Given the description of an element on the screen output the (x, y) to click on. 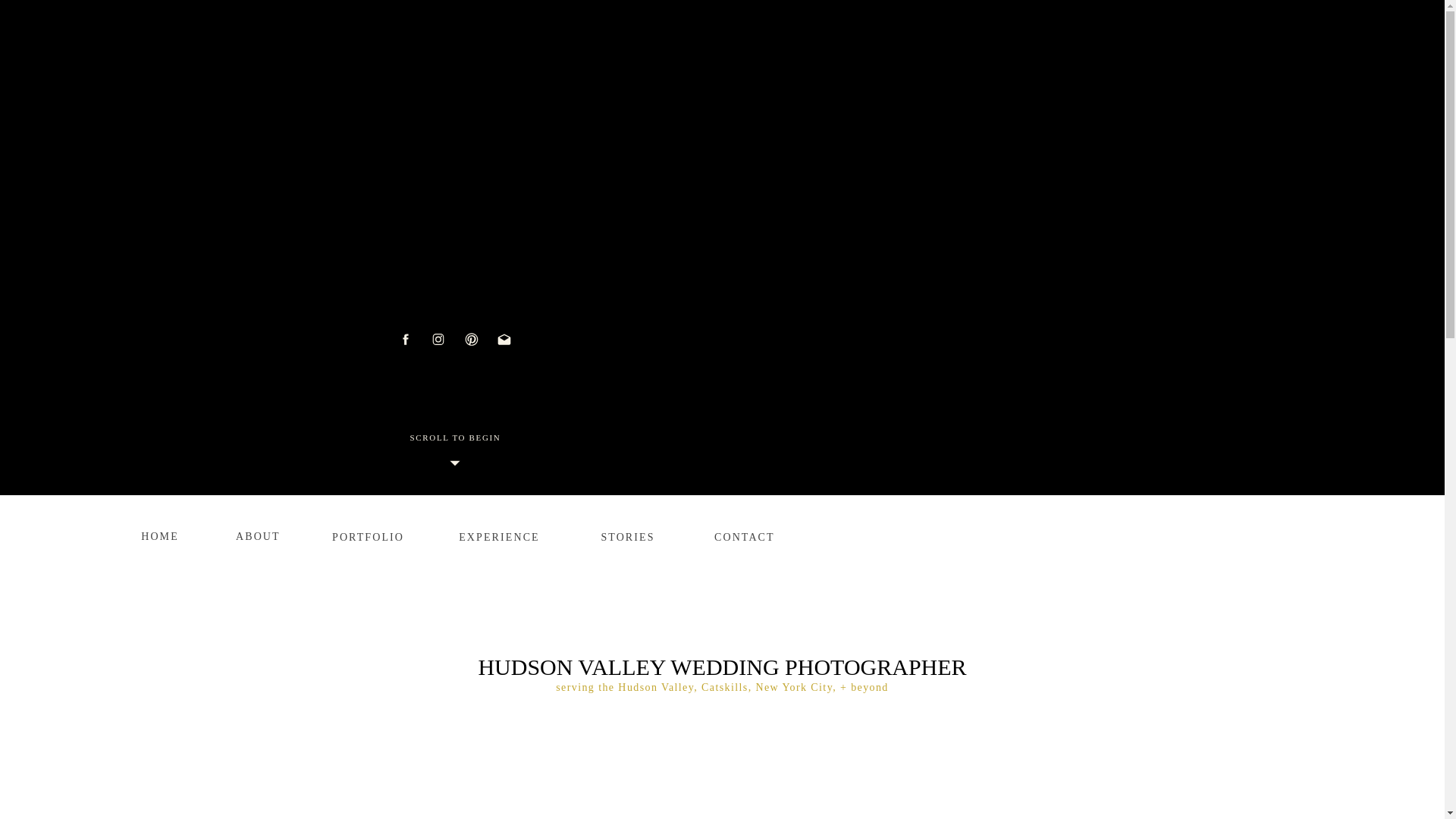
STORIES (628, 533)
PORTFOLIO (366, 533)
HOME (160, 533)
CONTACT (742, 533)
EXPERIENCE (499, 533)
ABOUT (255, 533)
